Given the description of an element on the screen output the (x, y) to click on. 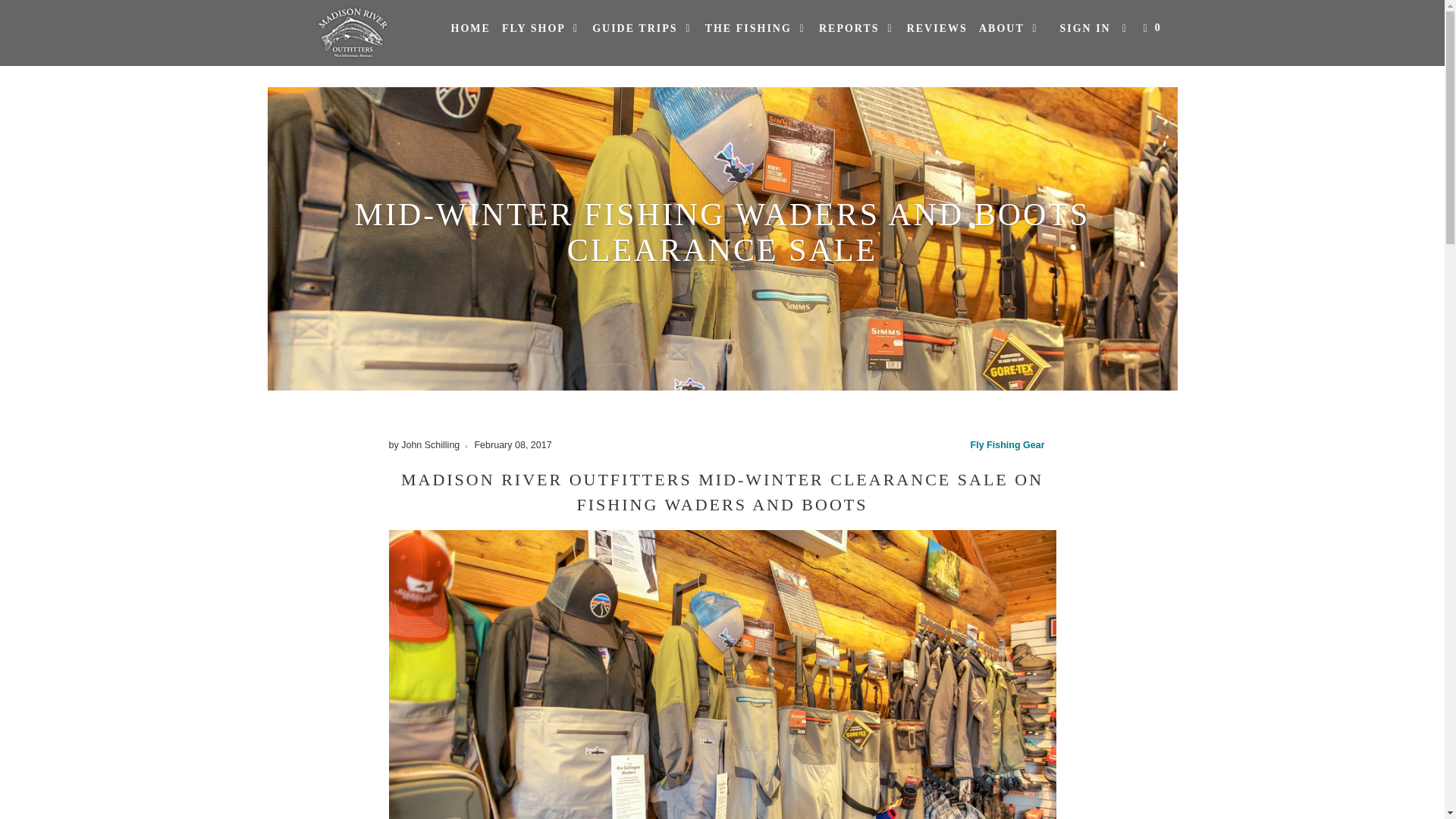
My Account  (1085, 28)
Madison River Outfitters (352, 33)
